Given the description of an element on the screen output the (x, y) to click on. 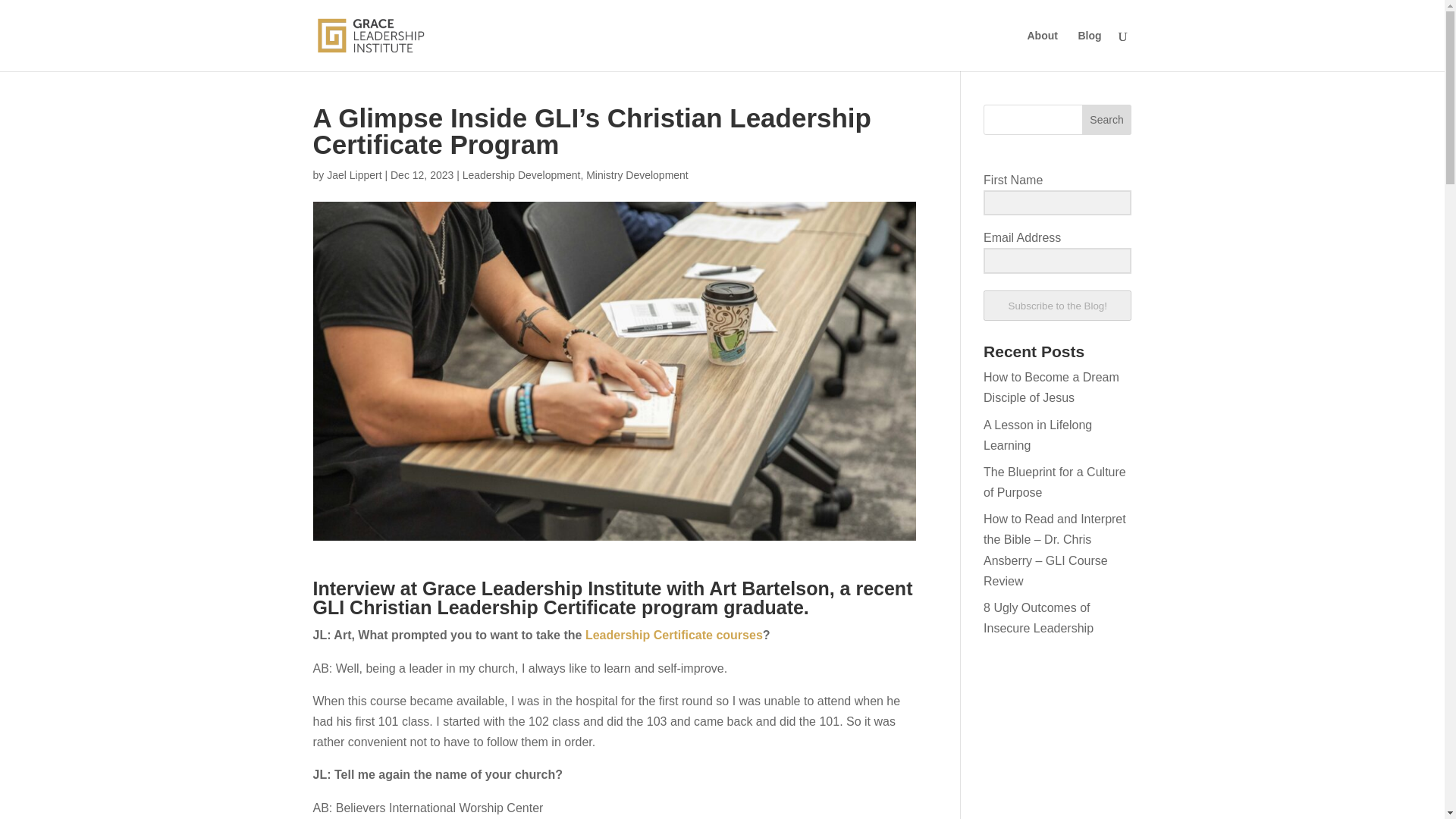
8 Ugly Outcomes of Insecure Leadership (1038, 617)
Ministry Development (637, 174)
Search (1106, 119)
Jael Lippert (353, 174)
Leadership Development (521, 174)
A Lesson in Lifelong Learning (1038, 435)
How to Become a Dream Disciple of Jesus (1051, 387)
Search (1106, 119)
Leadership Certificate courses (673, 634)
Subscribe to the Blog! (1057, 305)
Posts by Jael Lippert (353, 174)
The Blueprint for a Culture of Purpose (1054, 482)
